Given the description of an element on the screen output the (x, y) to click on. 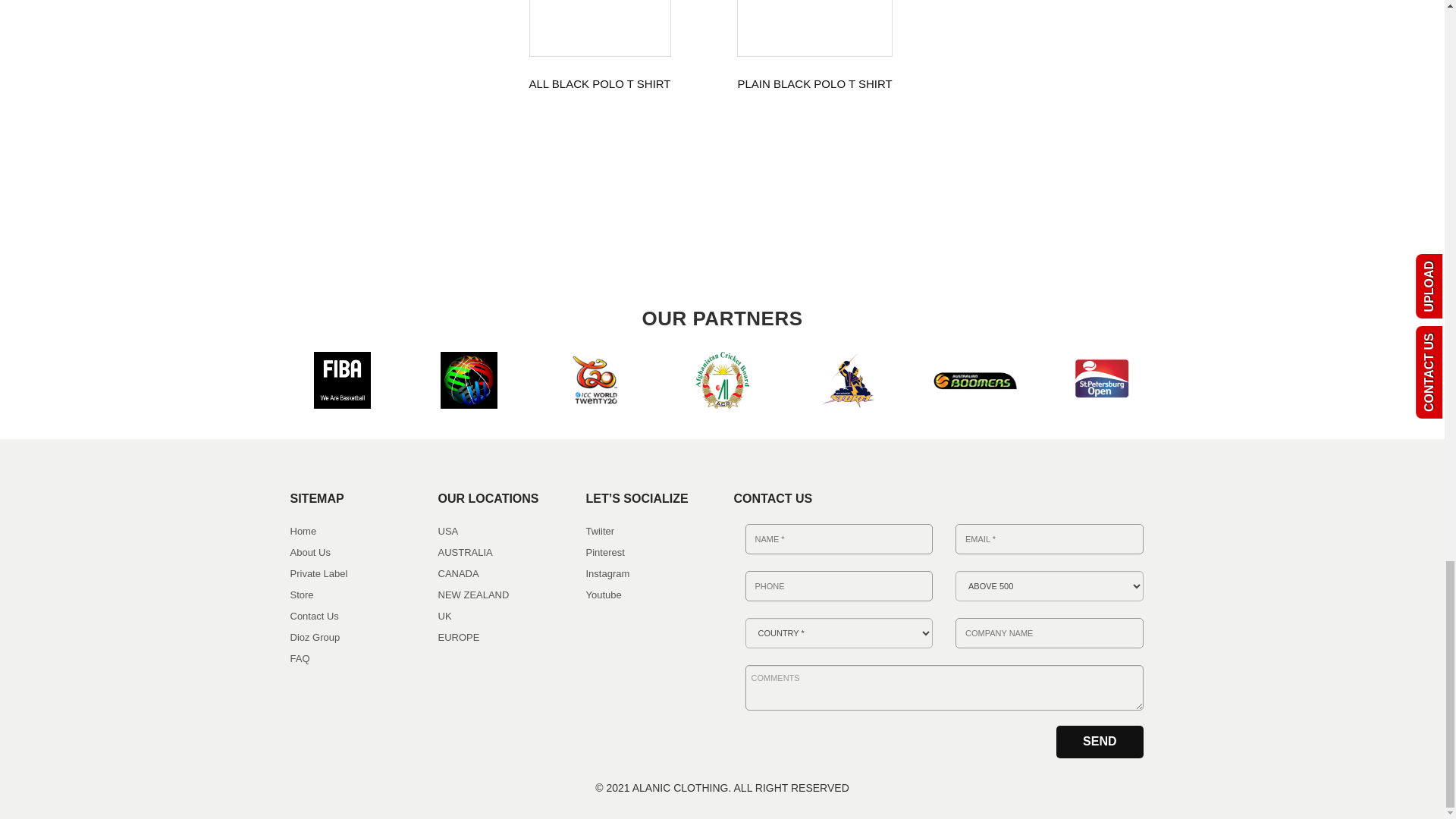
plus size dress wholesale (721, 380)
Send (1099, 741)
bulk wholesale clothing (849, 380)
ICC World T20 (595, 380)
FIBA (342, 380)
Fiba (467, 380)
